Given the description of an element on the screen output the (x, y) to click on. 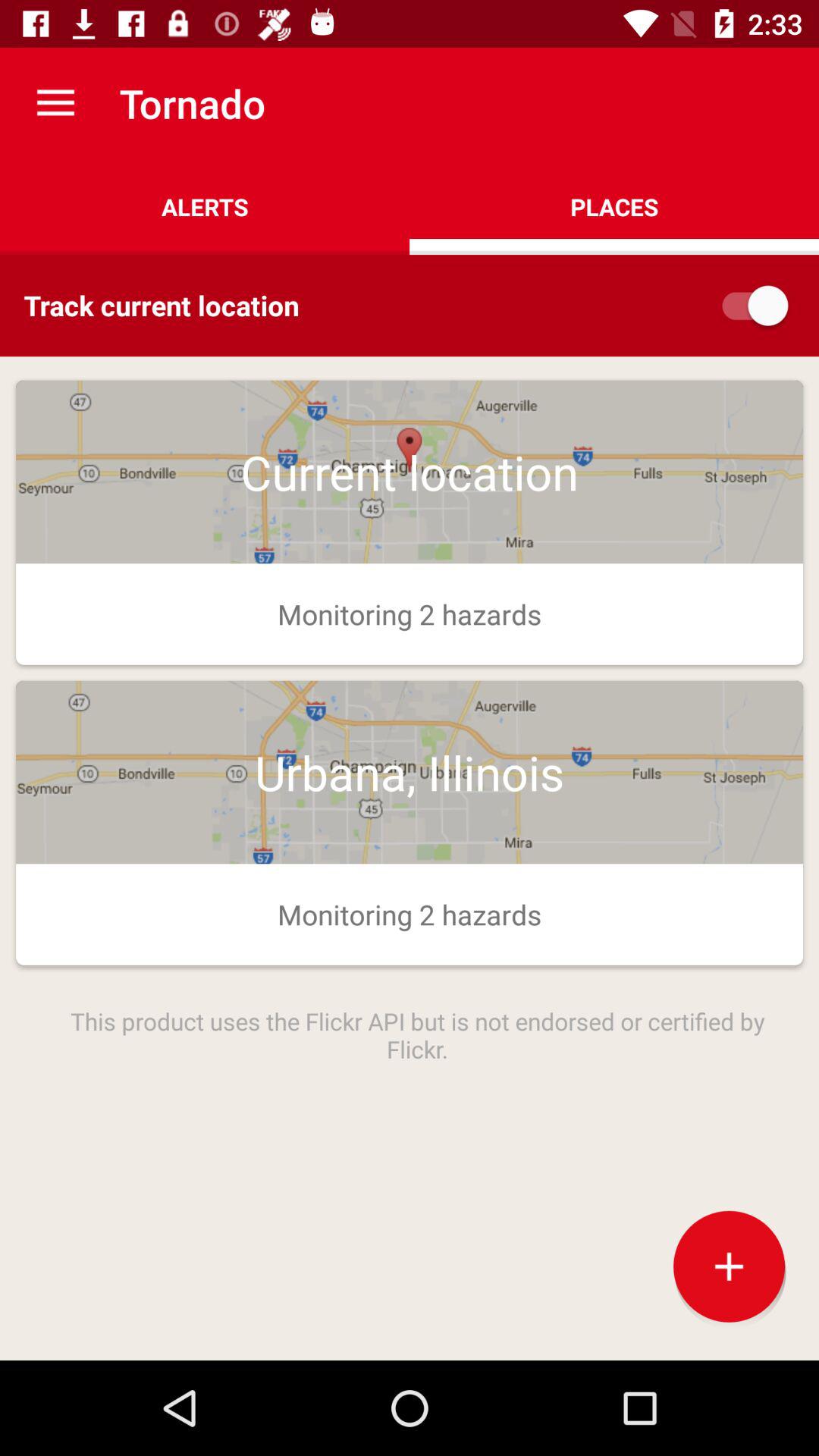
select app to the left of the tornado app (55, 103)
